Given the description of an element on the screen output the (x, y) to click on. 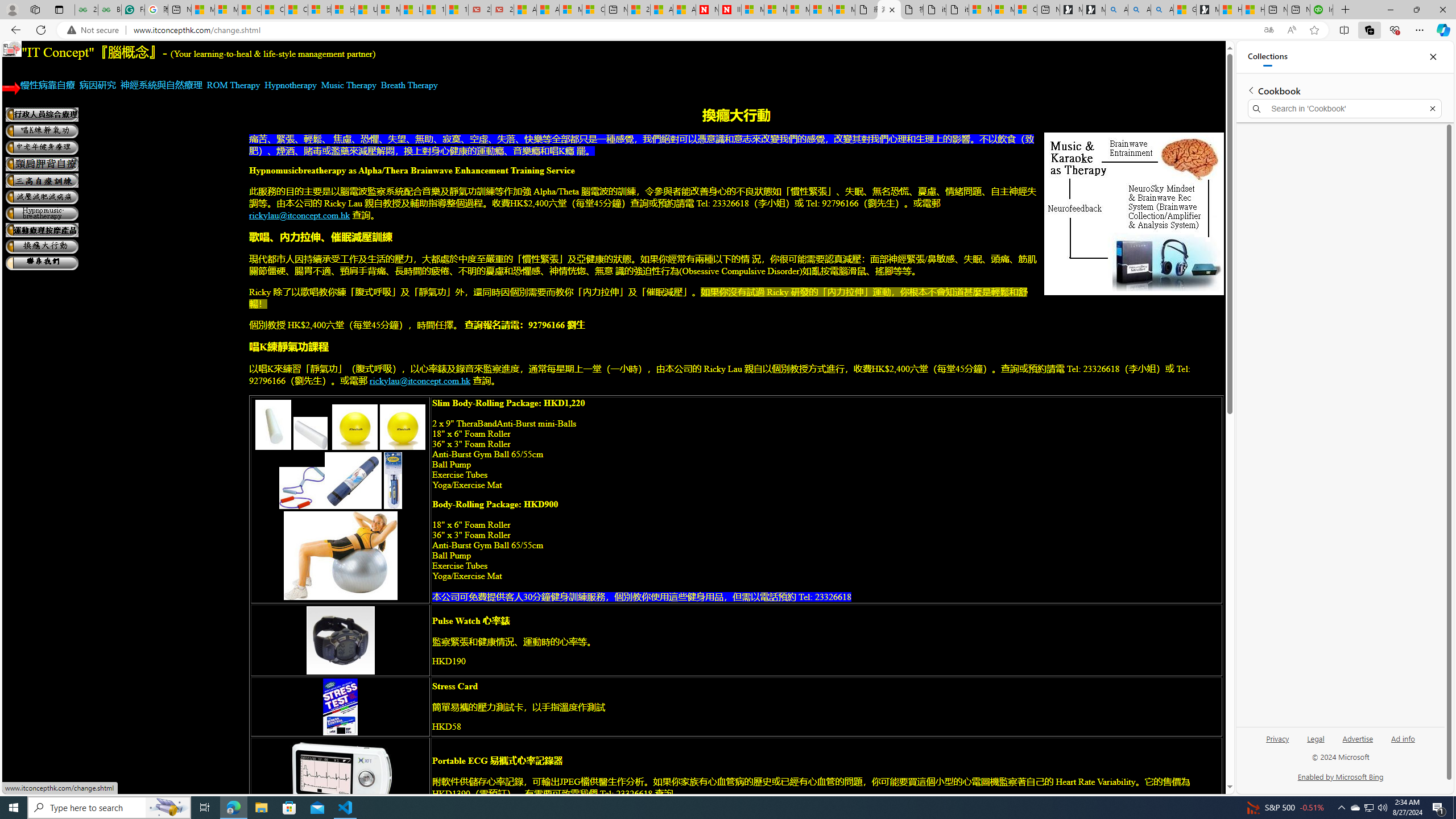
Browser essentials (1394, 29)
USA TODAY - MSN (365, 9)
Address and search bar (693, 29)
Illness news & latest pictures from Newsweek.com (729, 9)
Ad info (1402, 738)
Refresh (40, 29)
25 Basic Linux Commands For Beginners - GeeksforGeeks (86, 9)
Microsoft account | Privacy (1003, 9)
Best SSL Certificates Provider in India - GeeksforGeeks (109, 9)
Workspaces (34, 9)
Newsweek - News, Analysis, Politics, Business, Technology (707, 9)
To get missing image descriptions, open the context menu. (11, 48)
